Given the description of an element on the screen output the (x, y) to click on. 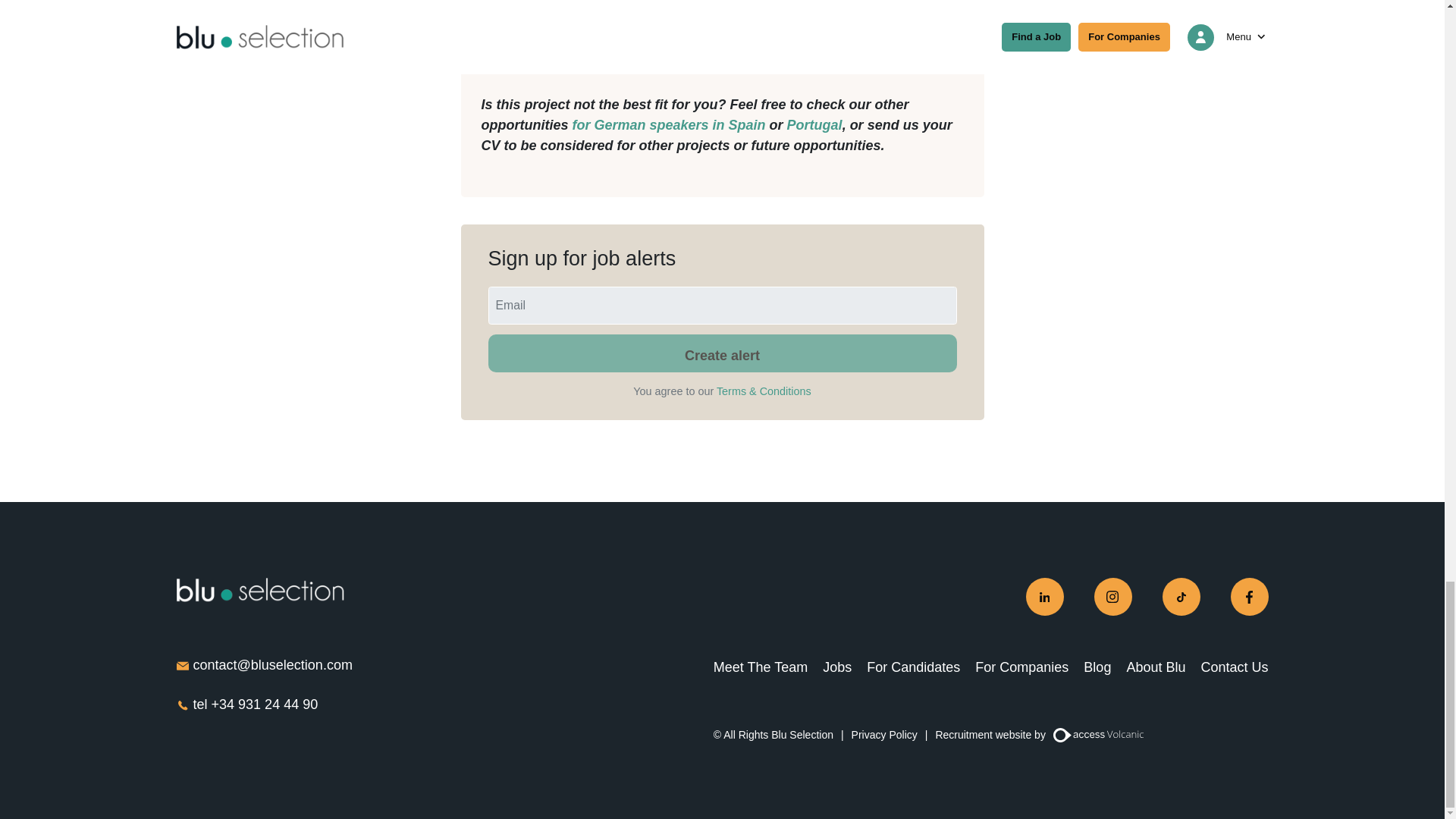
Create alert (721, 353)
Go to the Homepage (259, 589)
TikTok (1180, 596)
for German speakers in Spain (668, 124)
LinkedIn (1043, 596)
Instagram (1112, 596)
Portugal (815, 124)
Facebook (1249, 596)
